Given the description of an element on the screen output the (x, y) to click on. 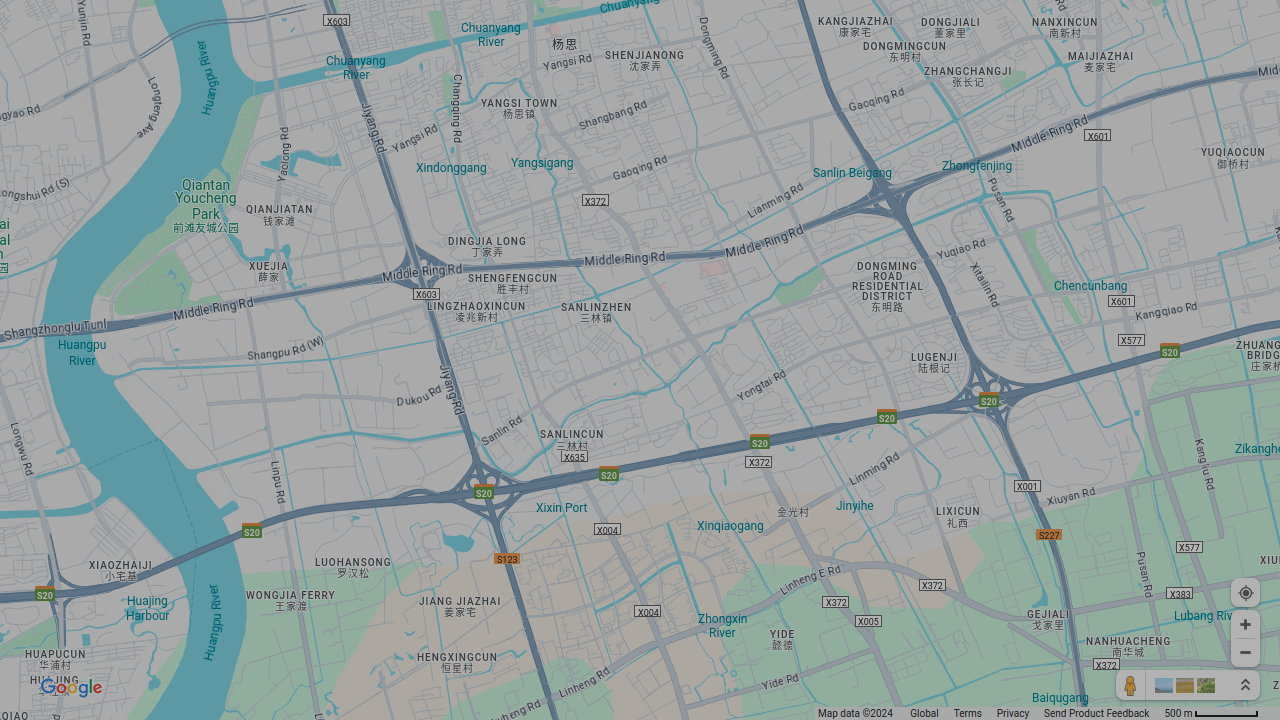
Show Your Location Element type: toggle-button (1245, 592)
Privacy Element type: push-button (1013, 713)
Zoom out Element type: push-button (1245, 652)
Zoom in Element type: push-button (1245, 624)
Terms Element type: push-button (967, 713)
